Given the description of an element on the screen output the (x, y) to click on. 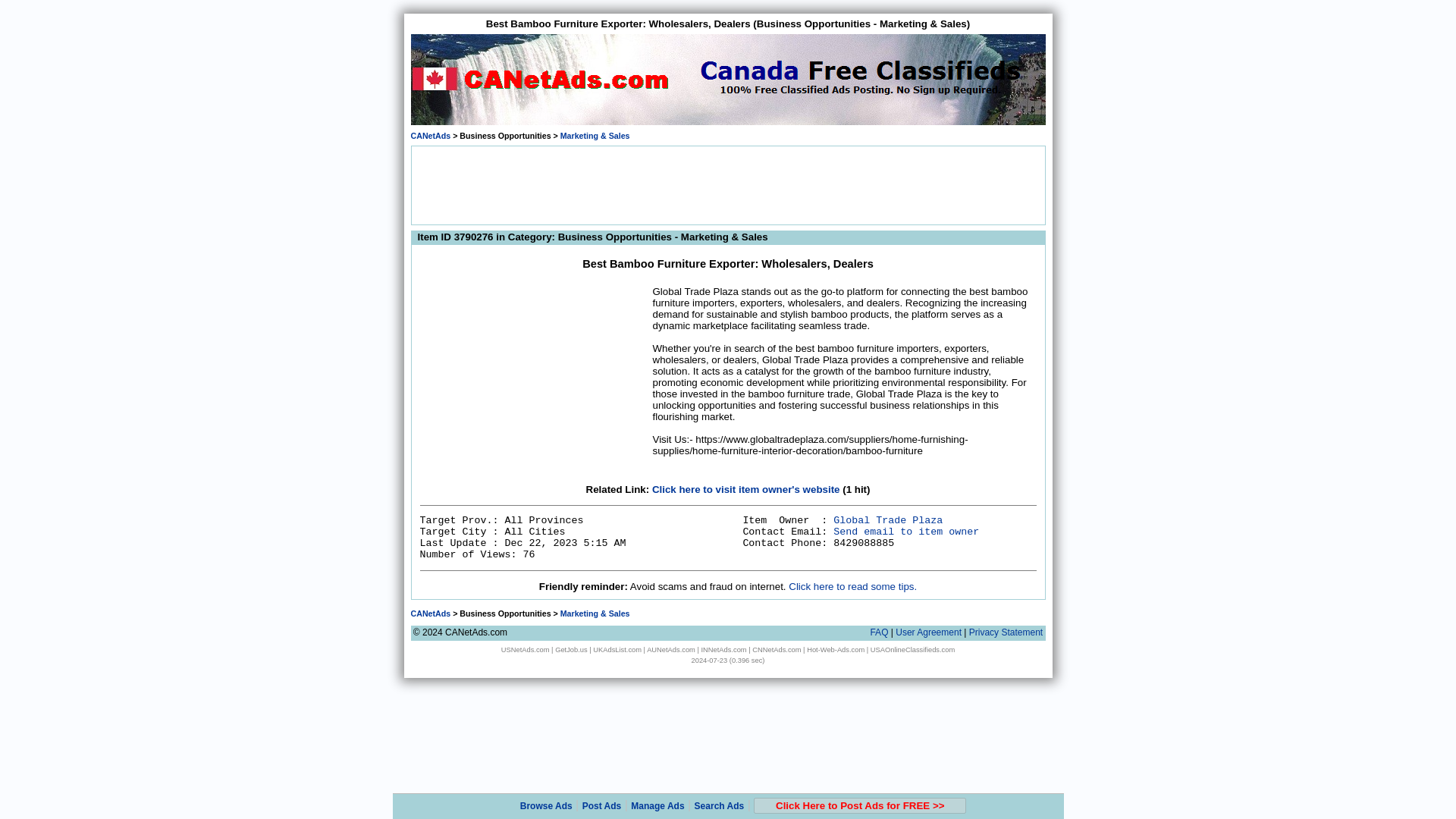
Privacy Statement (1005, 632)
GetJob.us (571, 649)
Browse all items posted by this owner (887, 520)
CANetAds (430, 613)
User Agreement (927, 632)
Global Trade Plaza (887, 520)
CANetAds (430, 135)
Go Back to CANetAds.com Home Page (430, 135)
Advertisement (727, 183)
AUNetAds.com (670, 649)
USAOnlineClassifieds.com (912, 649)
Go Back to CANetAds.com Home Page (430, 613)
Advertisement (533, 379)
USNetAds.com (525, 649)
UKAdsList.com (617, 649)
